Given the description of an element on the screen output the (x, y) to click on. 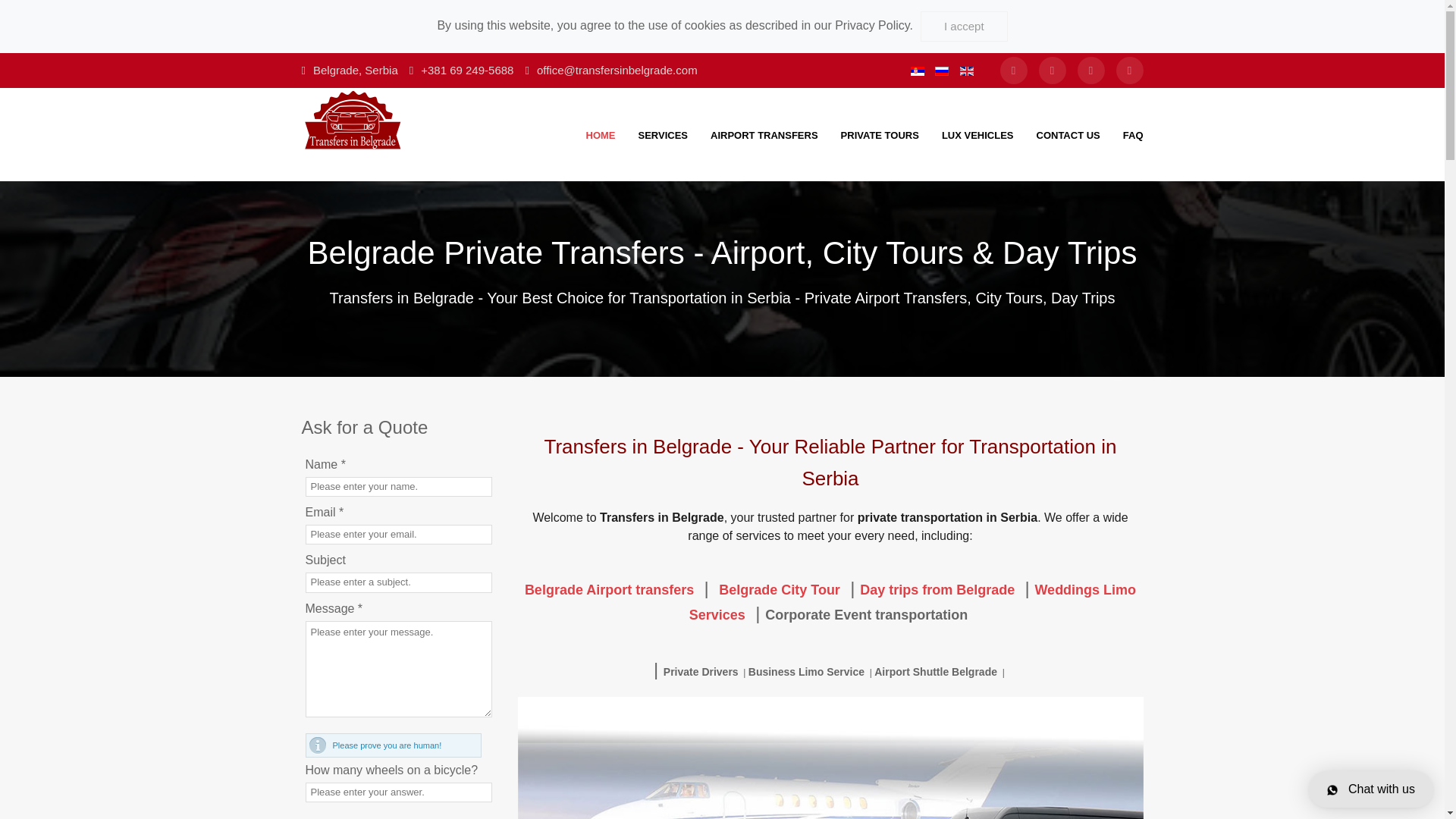
I accept (963, 26)
Day Trips From Beograde (937, 589)
Belgrade wedding limo service (911, 602)
Belgrade Airport transfers (609, 589)
Srpski-latinica (917, 71)
